Given the description of an element on the screen output the (x, y) to click on. 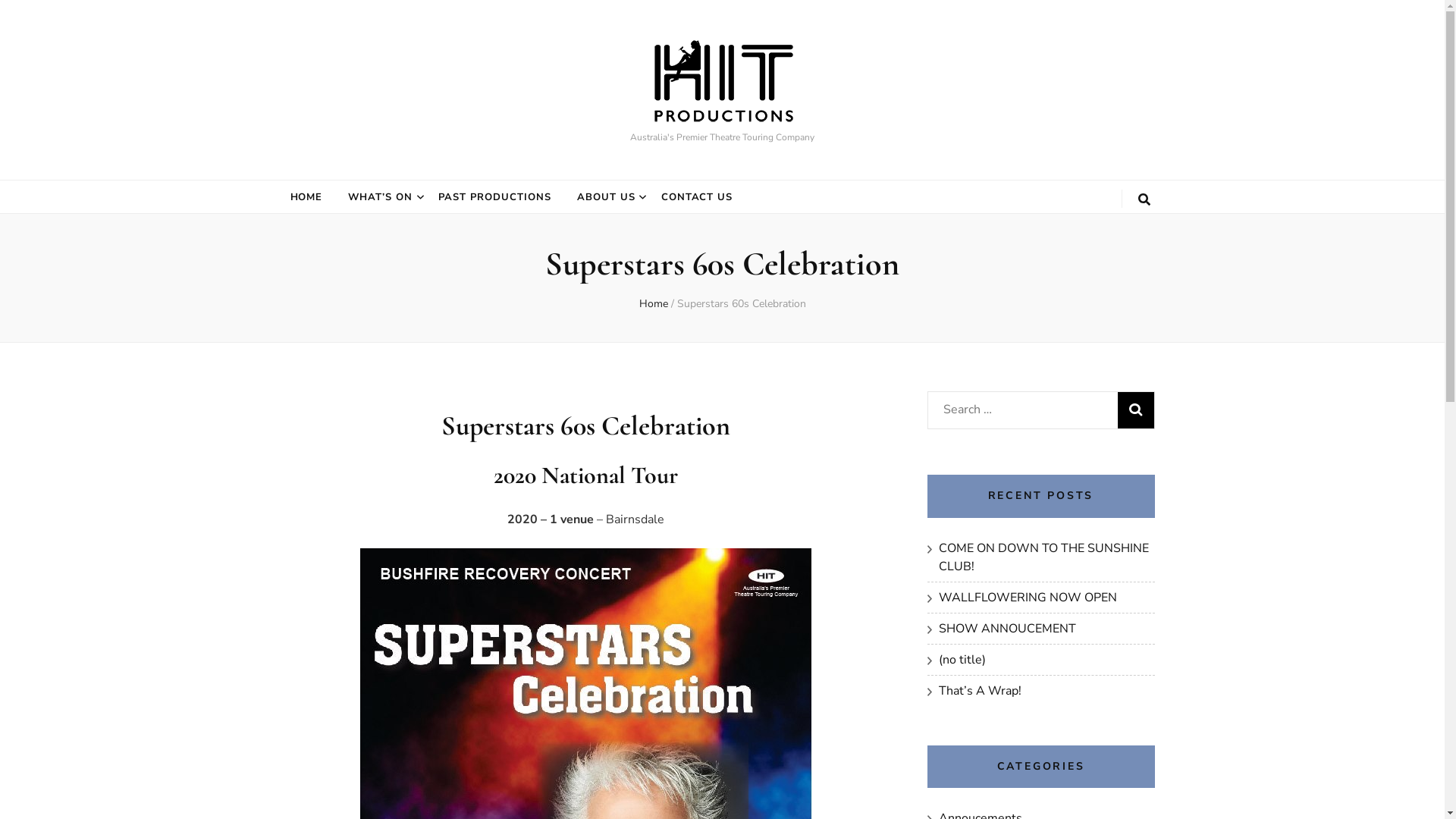
Superstars 60s Celebration Element type: text (740, 303)
WALLFLOWERING NOW OPEN Element type: text (1027, 597)
CONTACT US Element type: text (697, 197)
PAST PRODUCTIONS Element type: text (494, 197)
(no title) Element type: text (961, 659)
ABOUT US Element type: text (606, 197)
Search Element type: text (1135, 410)
SHOW ANNOUCEMENT Element type: text (1007, 628)
Home Element type: text (652, 303)
COME ON DOWN TO THE SUNSHINE CLUB! Element type: text (1043, 556)
HOME Element type: text (305, 197)
